Given the description of an element on the screen output the (x, y) to click on. 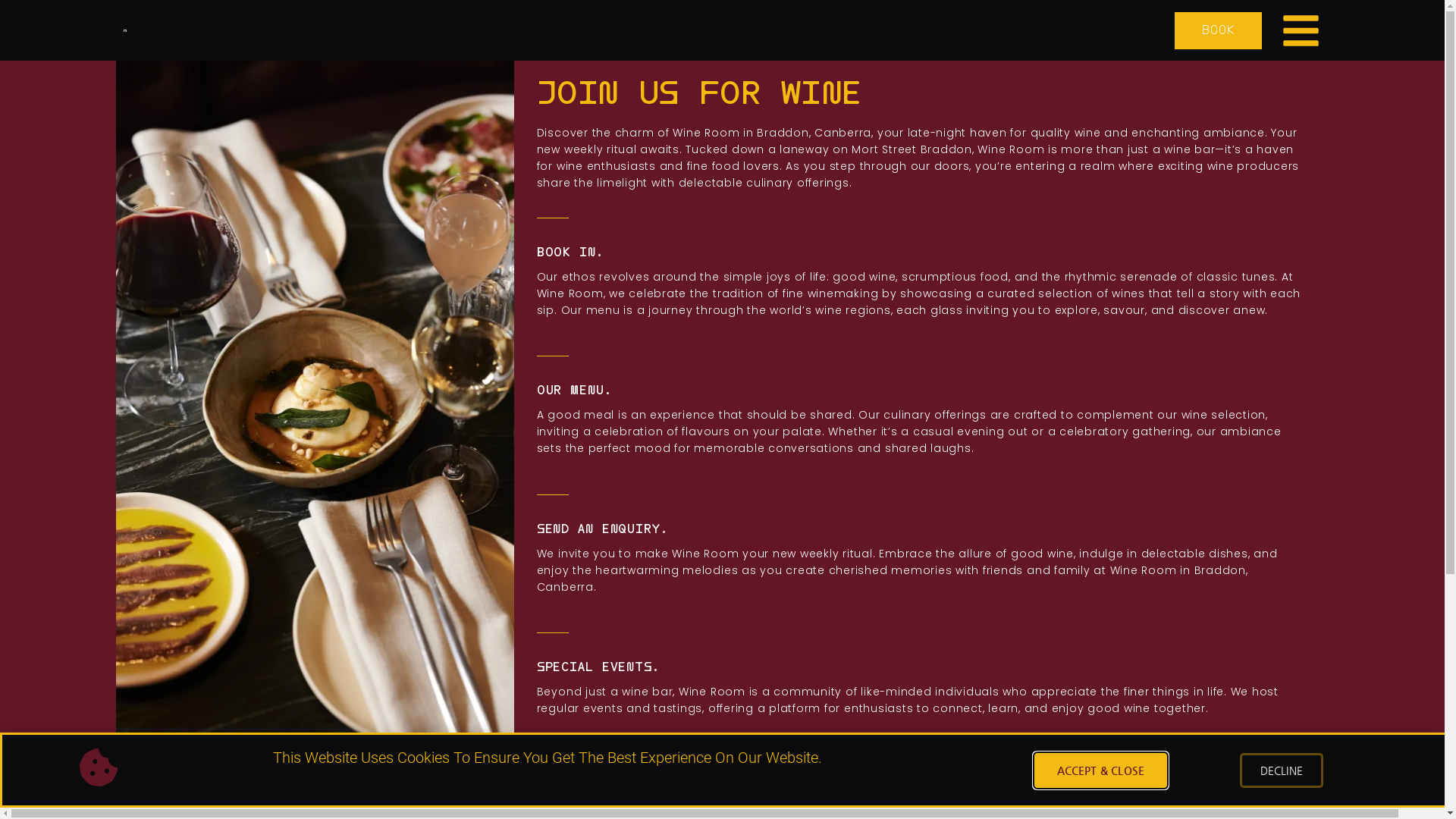
ACCEPT & CLOSE Element type: text (1100, 769)
SPECIAL EVENTS. Element type: text (597, 666)
DECLINE Element type: text (1281, 769)
BOOK IN. Element type: text (569, 252)
OUR MENU. Element type: text (573, 390)
SEND AN ENQUIRY. Element type: text (602, 528)
BOOK Element type: text (1217, 30)
